Given the description of an element on the screen output the (x, y) to click on. 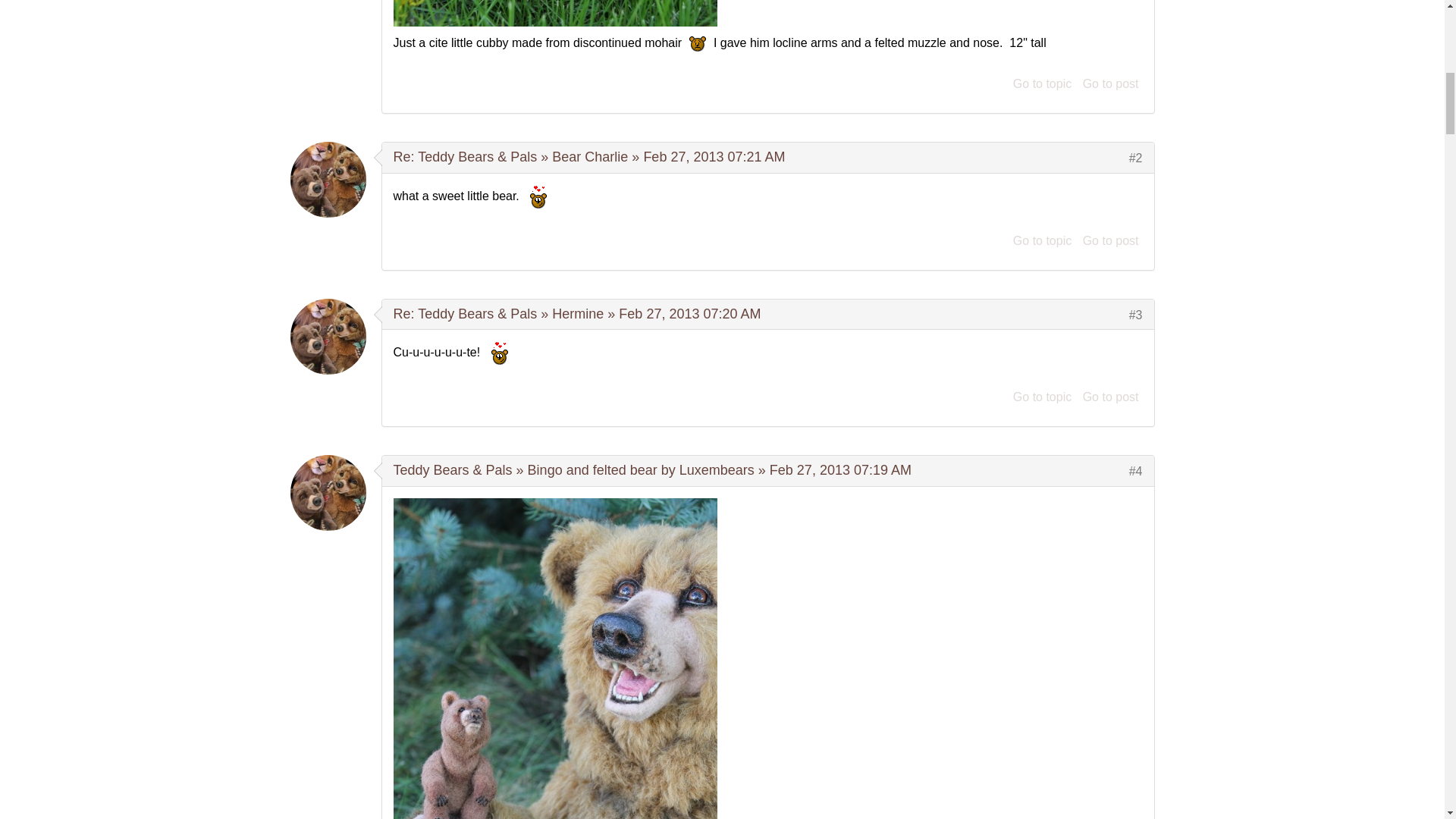
Go to topic (1042, 83)
Go to post (1110, 83)
Bear Charlie (589, 156)
